Given the description of an element on the screen output the (x, y) to click on. 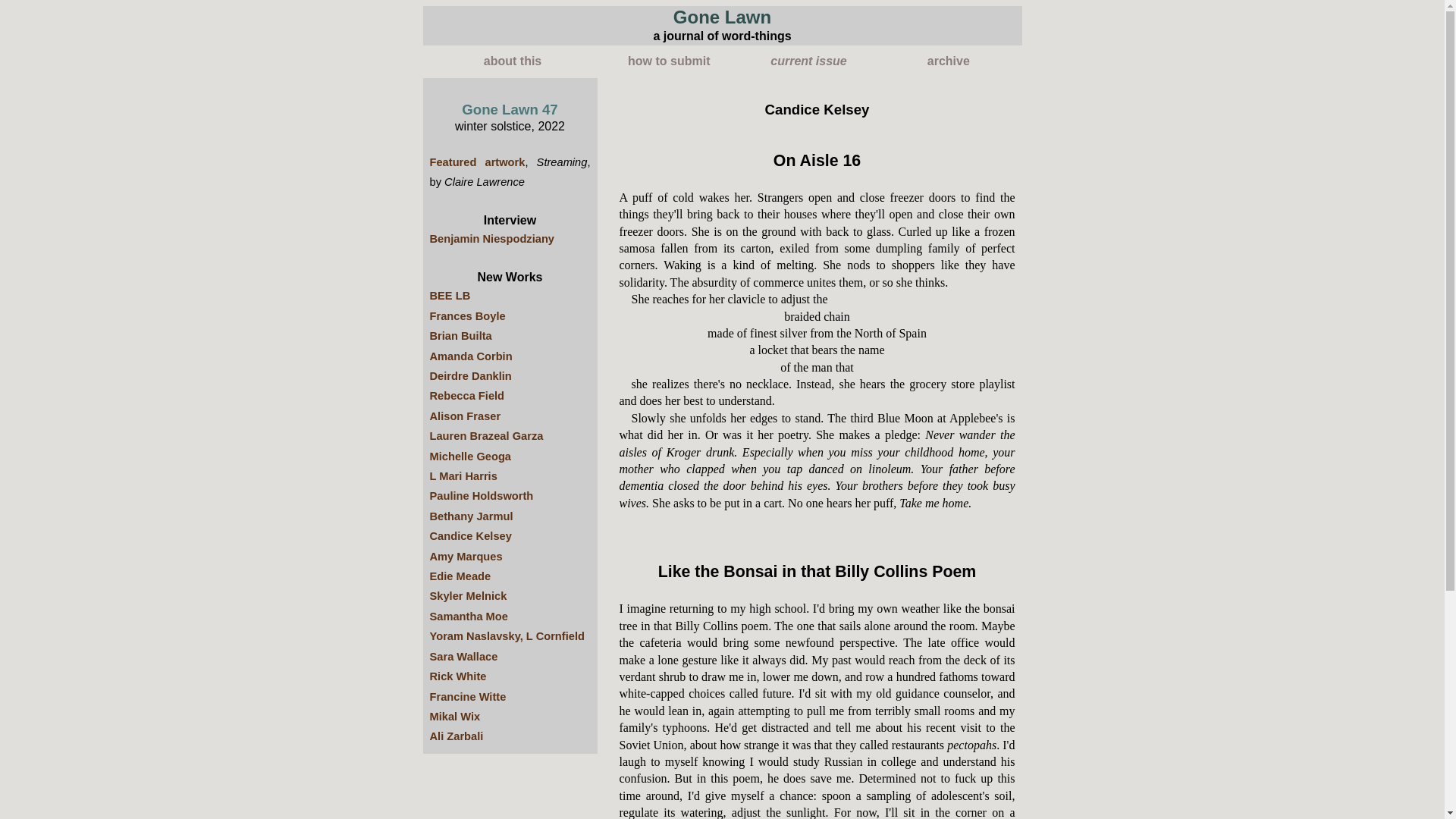
BEE LB (449, 295)
Francine Witte (467, 695)
Pauline Holdsworth (480, 495)
Frances Boyle (467, 316)
Ali Zarbali (456, 736)
Samantha Moe (467, 616)
Alison Fraser (464, 416)
Yoram Naslavsky, L Cornfield (506, 635)
Featured artwork (476, 162)
Amy Marques (465, 556)
